Given the description of an element on the screen output the (x, y) to click on. 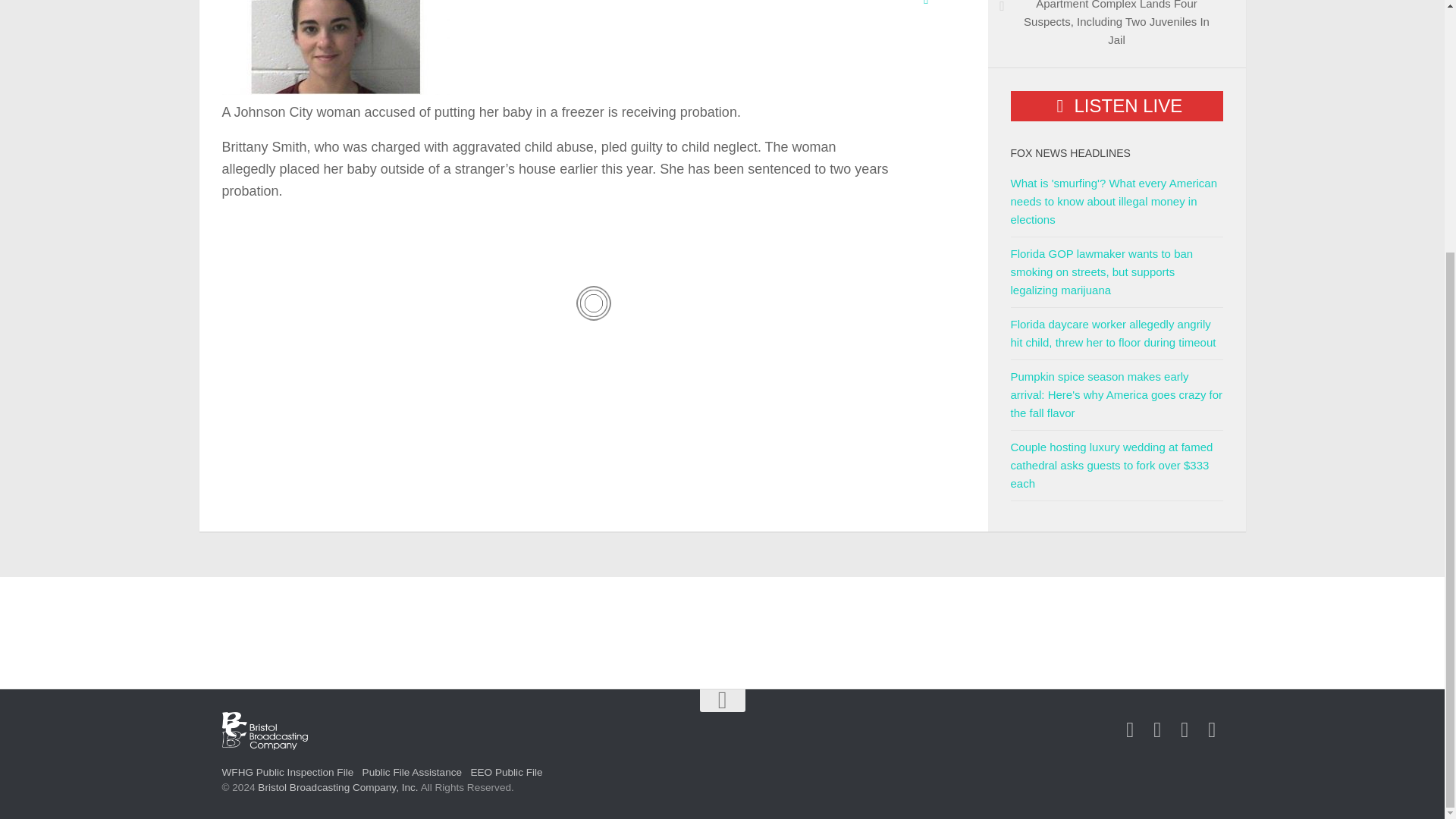
Contact Us (1184, 730)
Follow us on Twitter (1157, 730)
Follow us on Facebook (1129, 730)
Rss Feed (1212, 730)
